Given the description of an element on the screen output the (x, y) to click on. 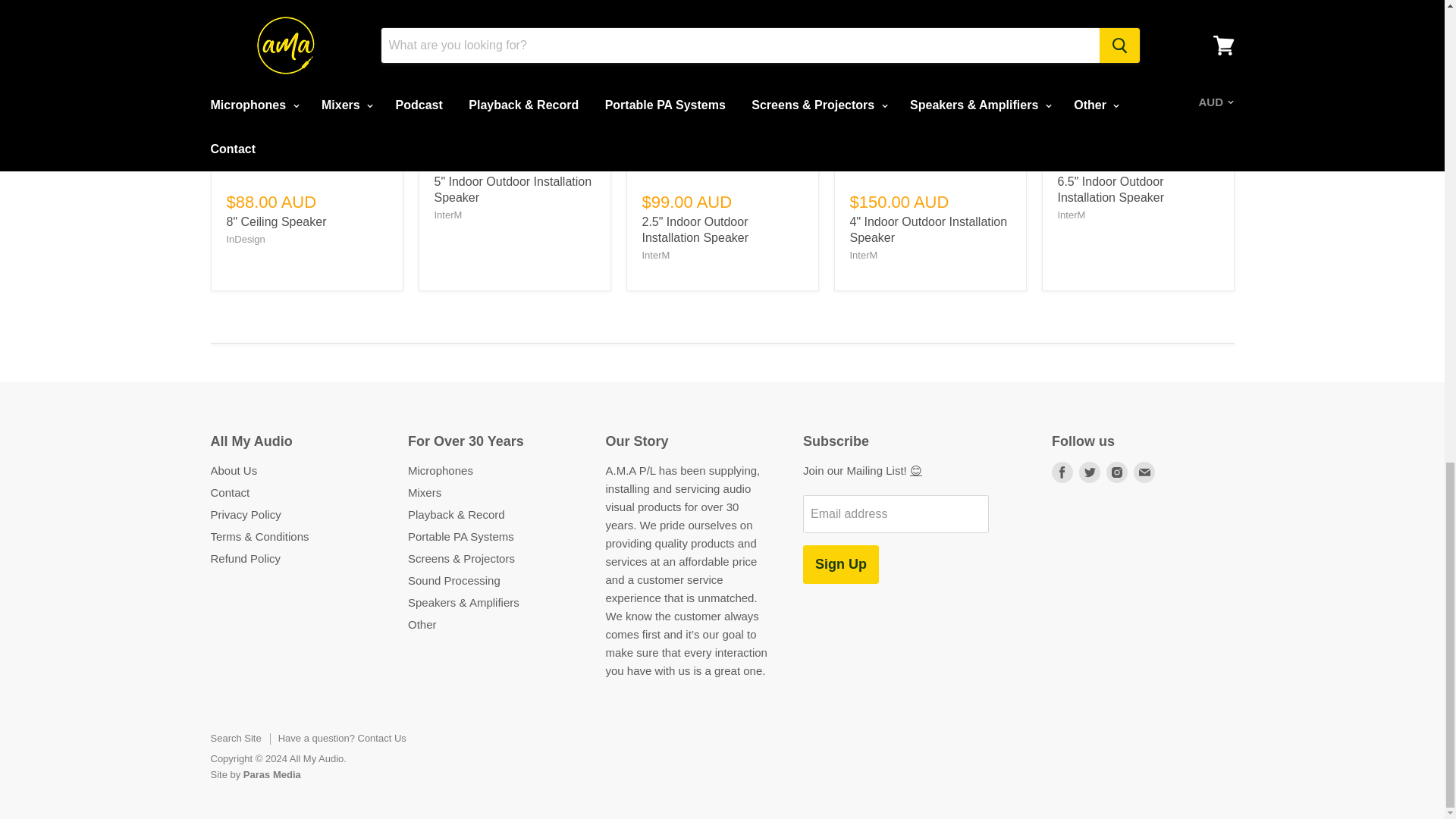
Instagram (1117, 472)
E-mail (1144, 472)
Twitter (1089, 472)
Facebook (1061, 472)
